Given the description of an element on the screen output the (x, y) to click on. 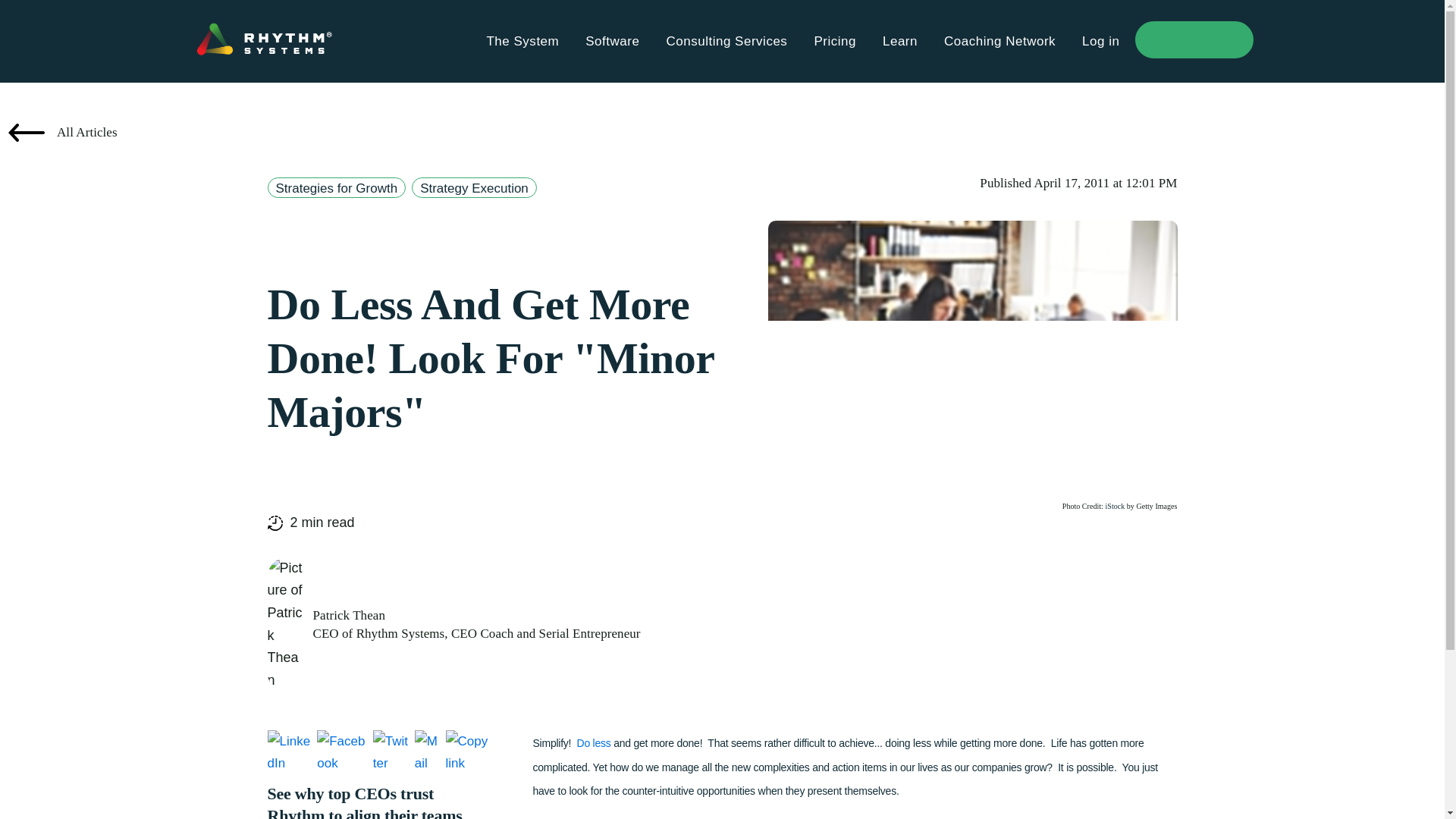
Software (612, 41)
Consulting Services (726, 41)
Pricing (834, 41)
Learn (899, 41)
iStock (1114, 506)
Coaching Network (999, 41)
Do less (595, 743)
Copy link (470, 752)
Share on Facebook (343, 752)
Log in (1100, 41)
